Given the description of an element on the screen output the (x, y) to click on. 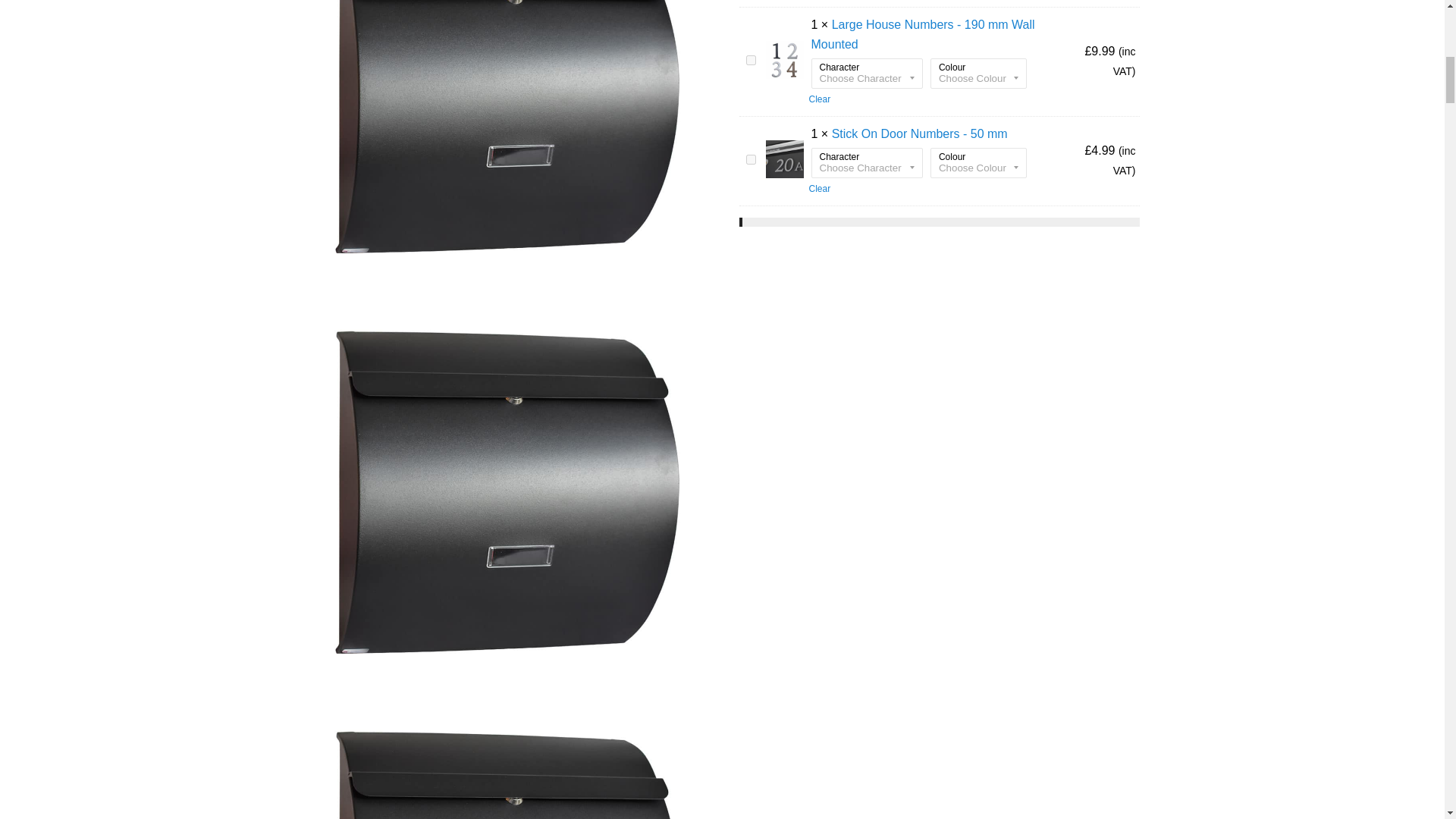
37586 (750, 60)
37639 (750, 159)
